Given the description of an element on the screen output the (x, y) to click on. 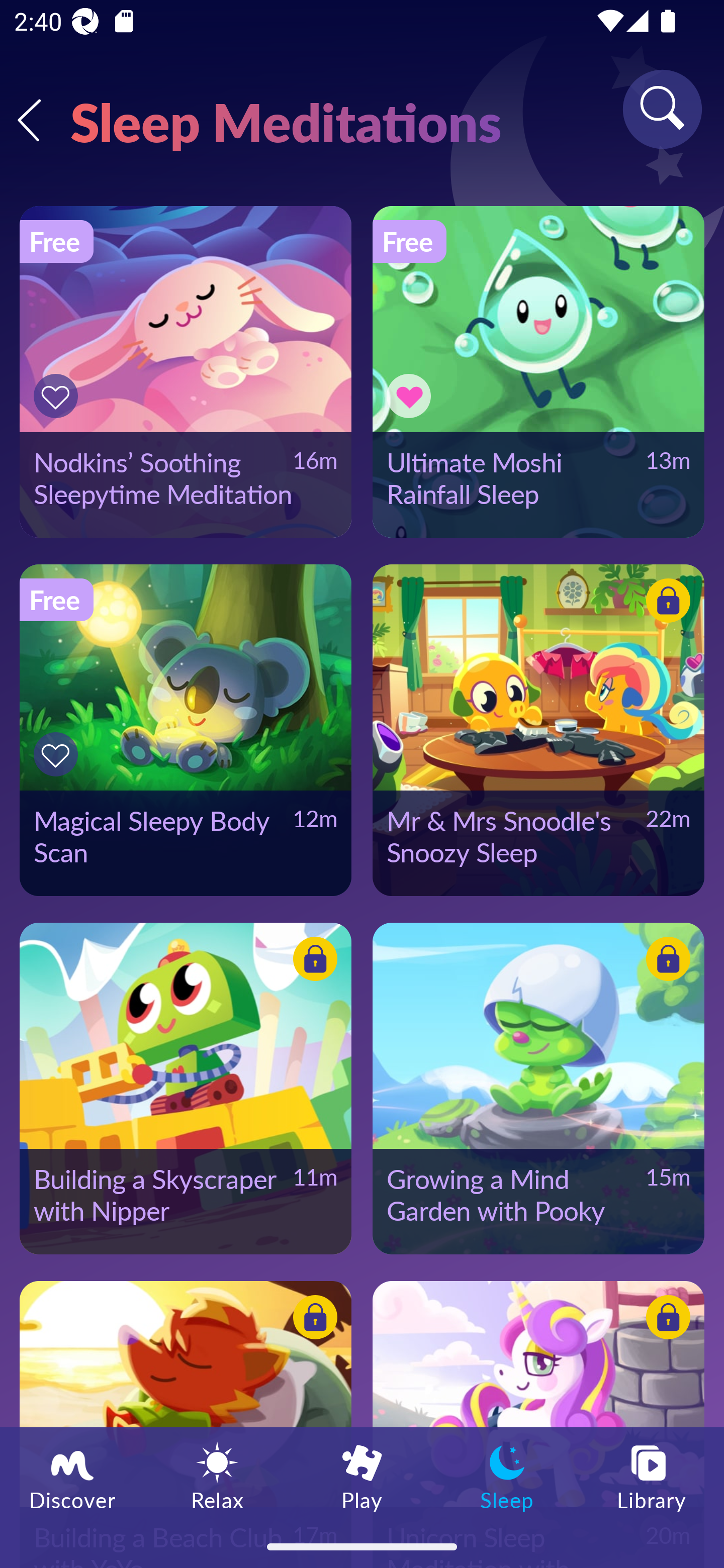
Button (58, 395)
Button (411, 395)
Button (665, 603)
Button (58, 753)
Button (311, 960)
Button (665, 960)
Button (311, 1320)
Button (665, 1320)
Discover (72, 1475)
Relax (216, 1475)
Play (361, 1475)
Library (651, 1475)
